Given the description of an element on the screen output the (x, y) to click on. 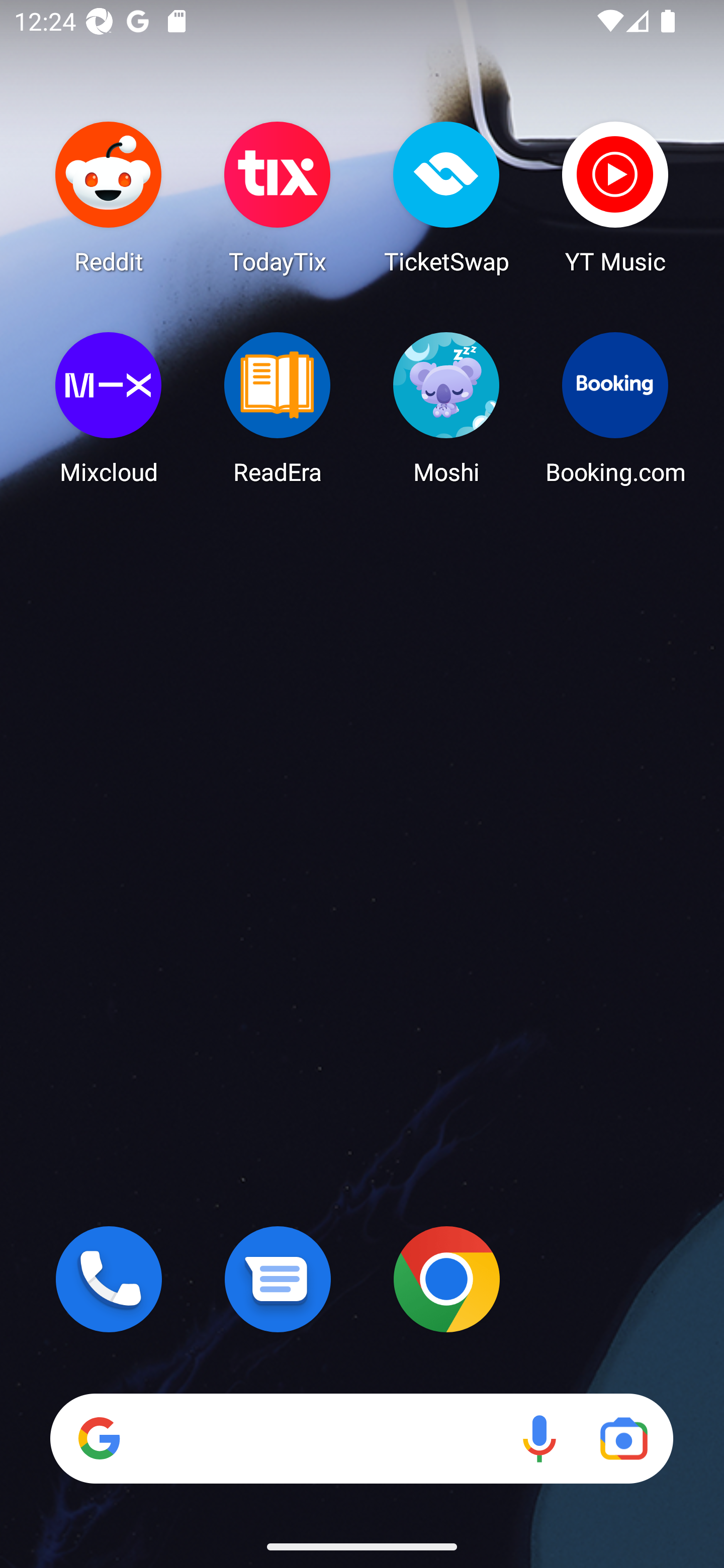
Reddit (108, 196)
TodayTix (277, 196)
TicketSwap (445, 196)
YT Music (615, 196)
Mixcloud (108, 407)
ReadEra (277, 407)
Moshi (445, 407)
Booking.com (615, 407)
Phone (108, 1279)
Messages (277, 1279)
Chrome (446, 1279)
Search Voice search Google Lens (361, 1438)
Voice search (539, 1438)
Google Lens (623, 1438)
